Given the description of an element on the screen output the (x, y) to click on. 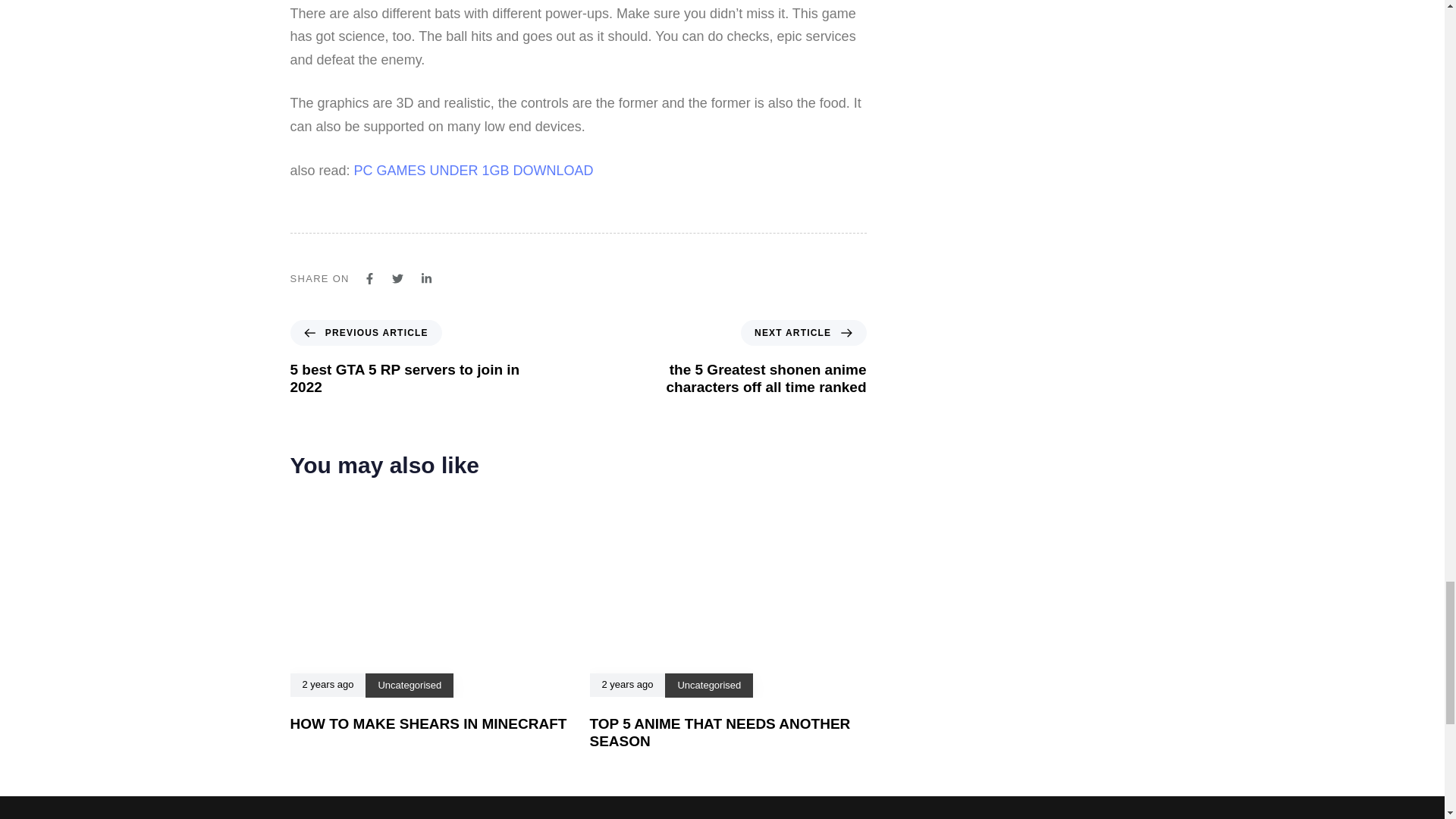
PC GAMES UNDER 1GB DOWNLOAD (473, 170)
TOP 5 ANIME THAT NEEDS ANOTHER SEASON (719, 732)
Uncategorised (709, 685)
Uncategorised (409, 685)
HOW TO MAKE SHEARS IN MINECRAFT (427, 723)
